Given the description of an element on the screen output the (x, y) to click on. 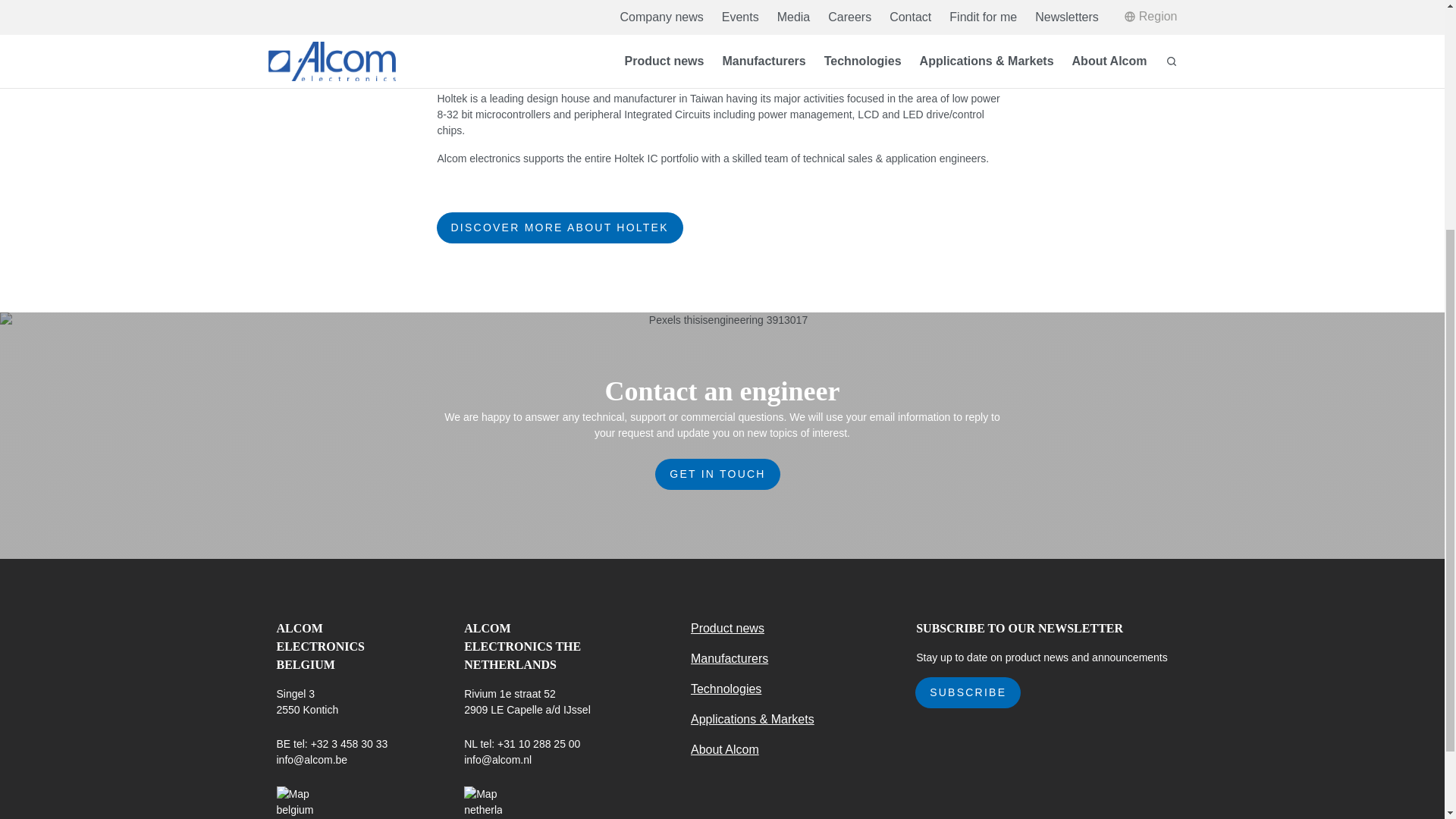
DISCOVER MORE ABOUT HOLTEK (558, 227)
GET IN TOUCH (717, 473)
